Given the description of an element on the screen output the (x, y) to click on. 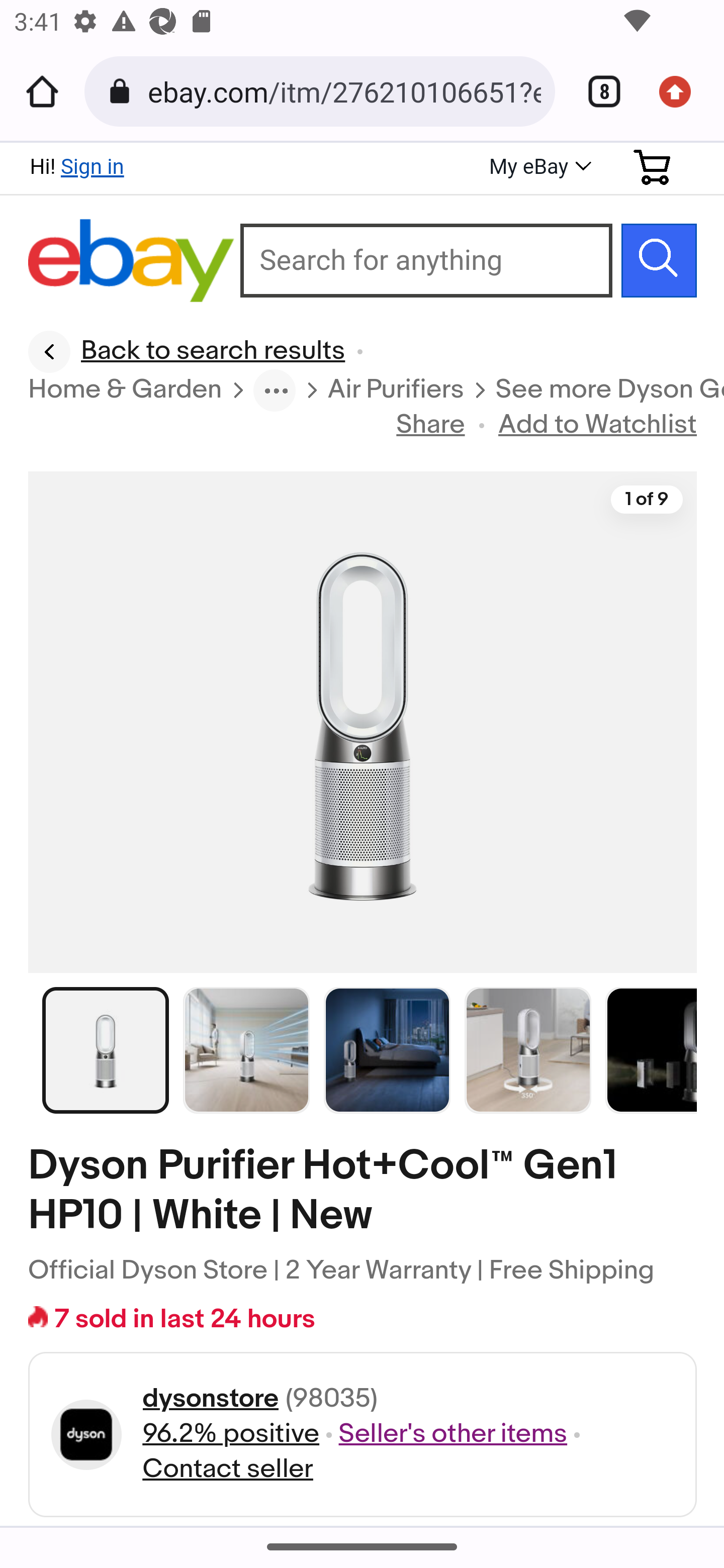
Home (42, 91)
Connection is secure (122, 91)
Switch or close tabs (597, 91)
Update available. More options (681, 91)
Your shopping cart (652, 166)
My eBay (538, 167)
Sign in (92, 166)
eBay Home (132, 260)
Search (658, 260)
Back to search results (187, 351)
Home & Garden (125, 391)
Air Purifiers (395, 391)
Share (431, 425)
Add to Watchlist (598, 425)
Picture 1 of 9 (105, 1049)
Picture 2 of 9 (247, 1049)
Picture 3 of 9 (386, 1049)
Picture 4 of 9 (527, 1049)
Picture 5 of 9 (651, 1049)
dysonstore (209, 1398)
96.2% positive (230, 1433)
Seller's other items (453, 1433)
Contact seller (227, 1469)
